Given the description of an element on the screen output the (x, y) to click on. 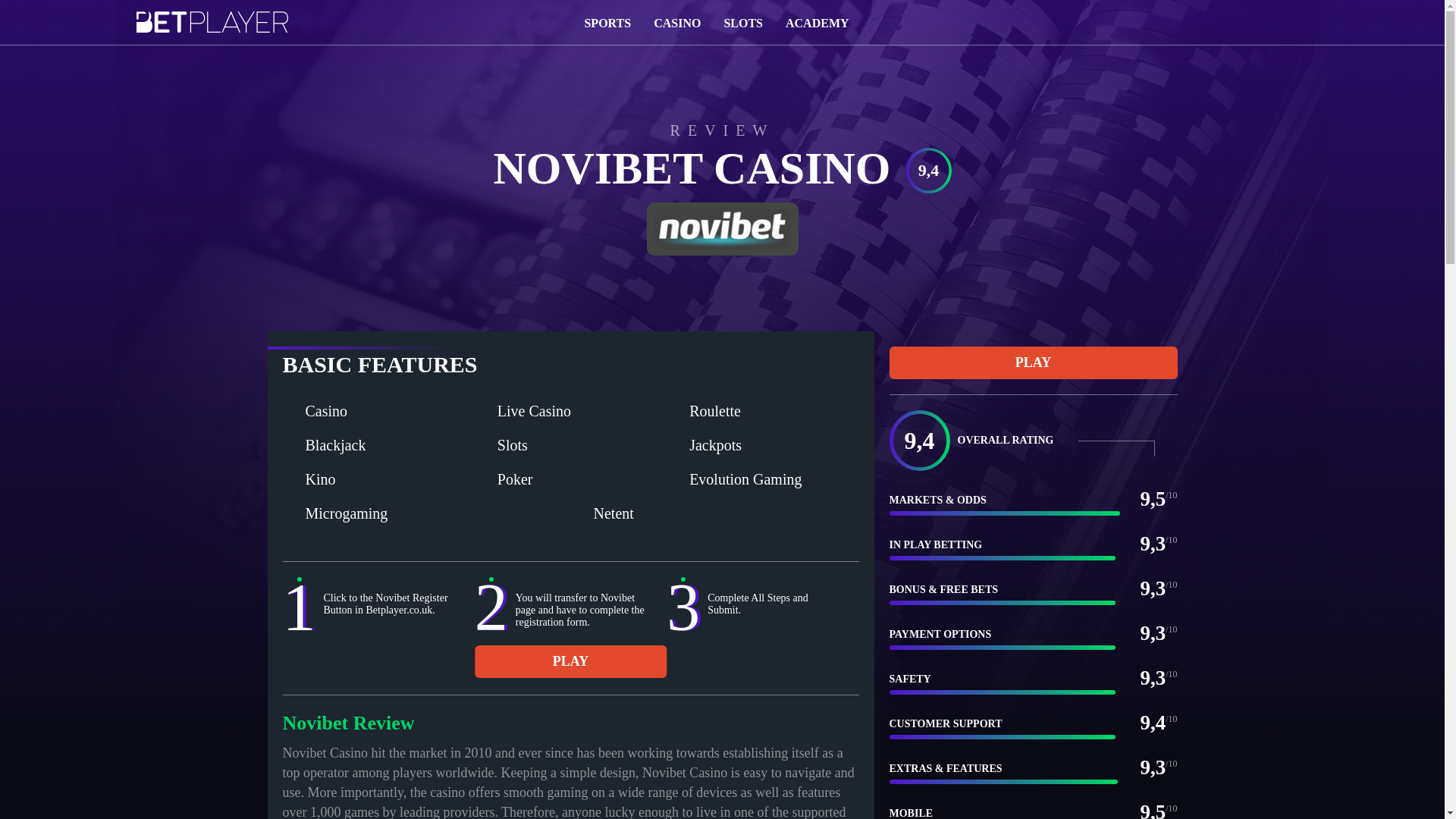
PLAY (570, 661)
SPORTS (606, 21)
Betplayer (212, 29)
ACADEMY (817, 21)
CASINO (676, 21)
SLOTS (742, 21)
